Given the description of an element on the screen output the (x, y) to click on. 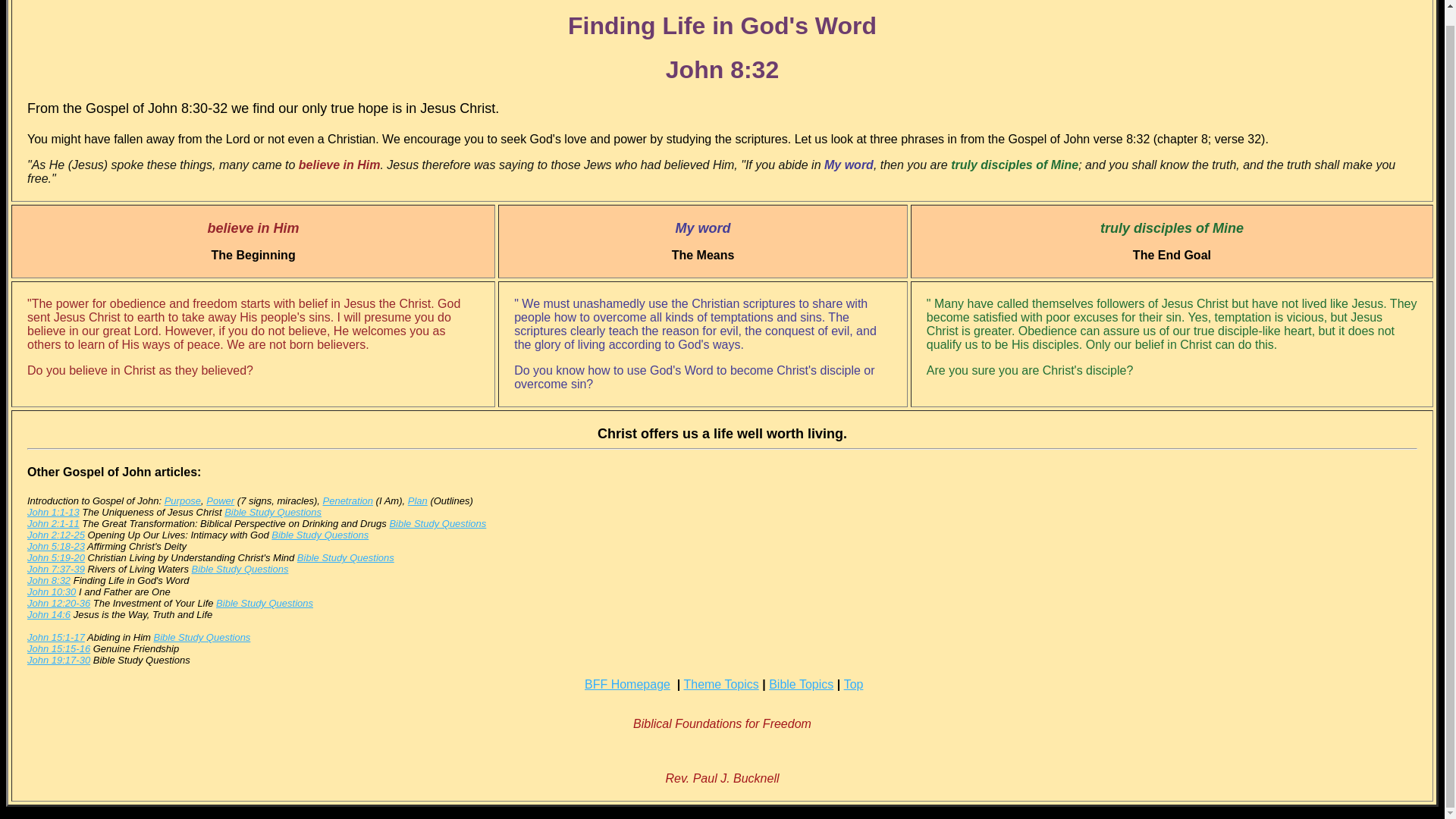
John 1:1-13 (53, 511)
John 2:12-25 (55, 534)
John 5:19-20 (55, 557)
Understanding the Old Testament 'I Am' Statement (348, 500)
John 8:32 (48, 580)
John 10:30 I and Father are One (51, 591)
John 7:37-39 Rivers of Living Waters (55, 568)
Bible Topics (800, 684)
The Purpose of the Gospel of John (182, 500)
